Given the description of an element on the screen output the (x, y) to click on. 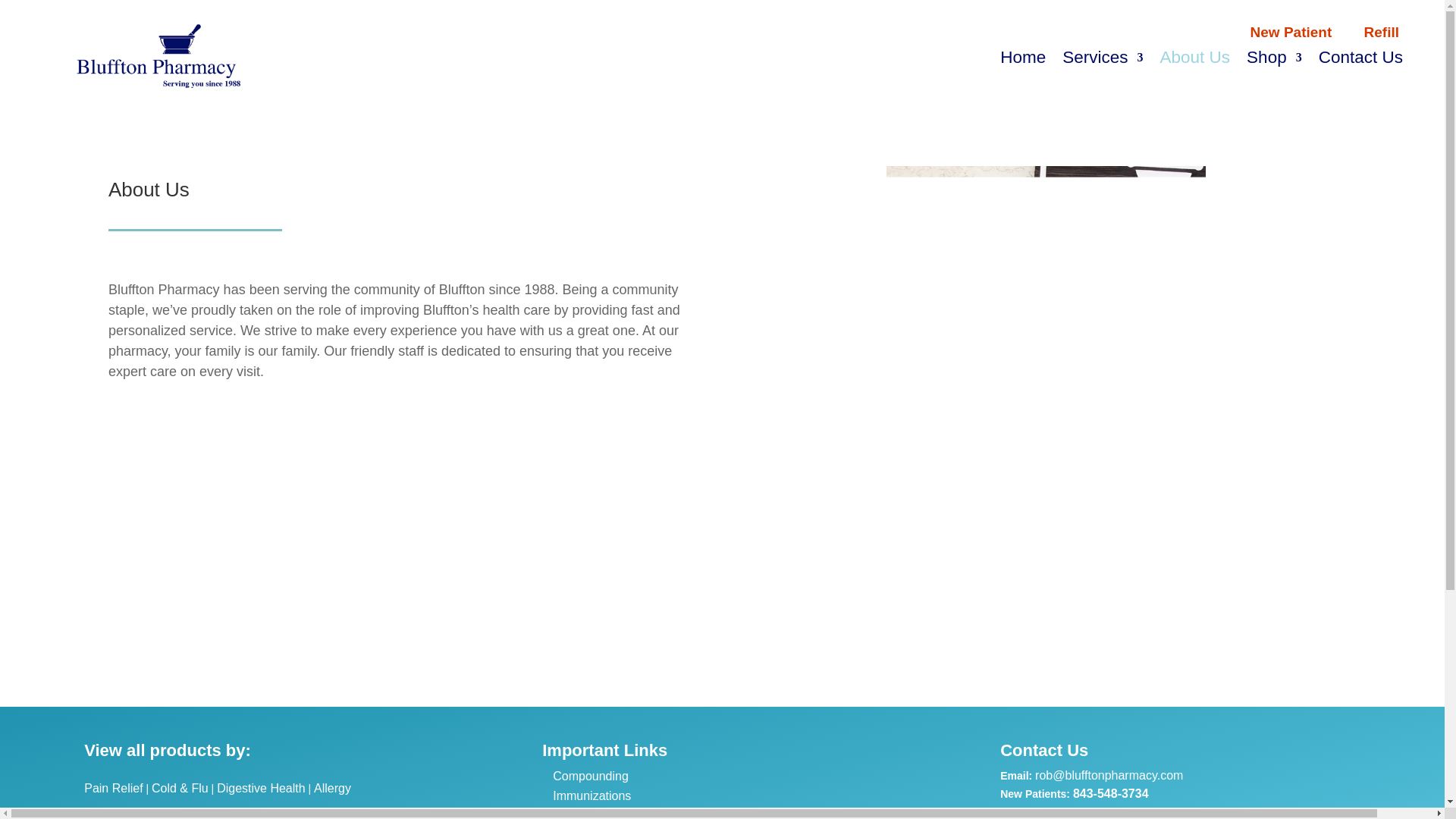
Home (1022, 60)
Pain Relief (113, 788)
New Patient (1291, 32)
Compounding (590, 775)
About Us (1195, 60)
Allergy (332, 788)
Bluffton Pharmacy Logo (158, 58)
Digestive Health (260, 788)
Contact Us (1361, 60)
Shop (1273, 60)
Refill (1381, 32)
Immunizations (591, 795)
Services (1102, 60)
